Given the description of an element on the screen output the (x, y) to click on. 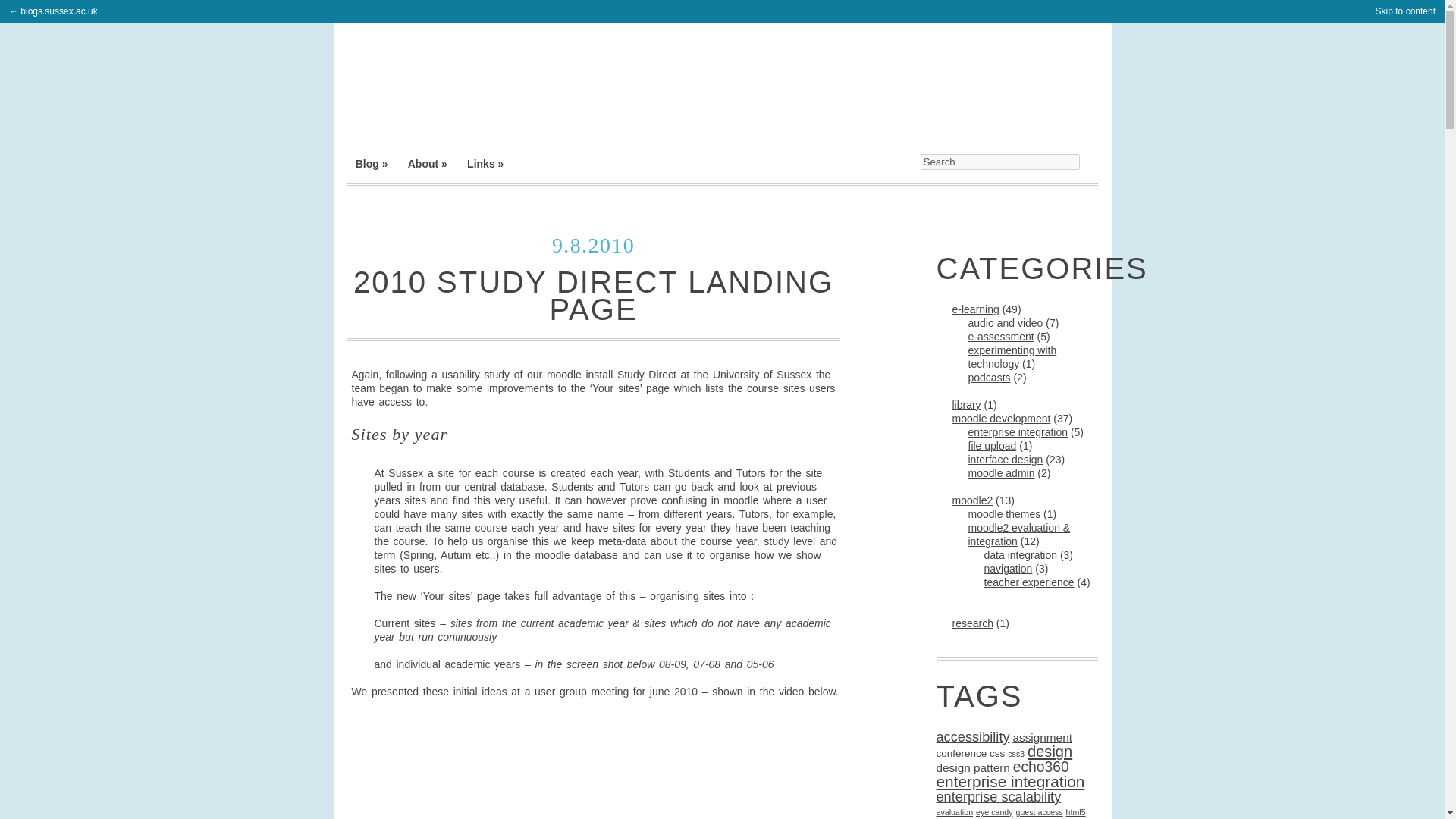
audio and video (1005, 322)
Skip to content (1405, 10)
E-learning team blog (371, 163)
moodle admin (1000, 472)
experimenting with technology (1012, 356)
post about moodle 2 (972, 500)
e-learning (975, 309)
file upload (992, 445)
Sussex blogs home (52, 10)
posts about e-learning (975, 309)
enterprise integration (1017, 431)
library (966, 404)
moodle development (1001, 418)
New Study Direct home page (541, 765)
moodle2 (972, 500)
